Given the description of an element on the screen output the (x, y) to click on. 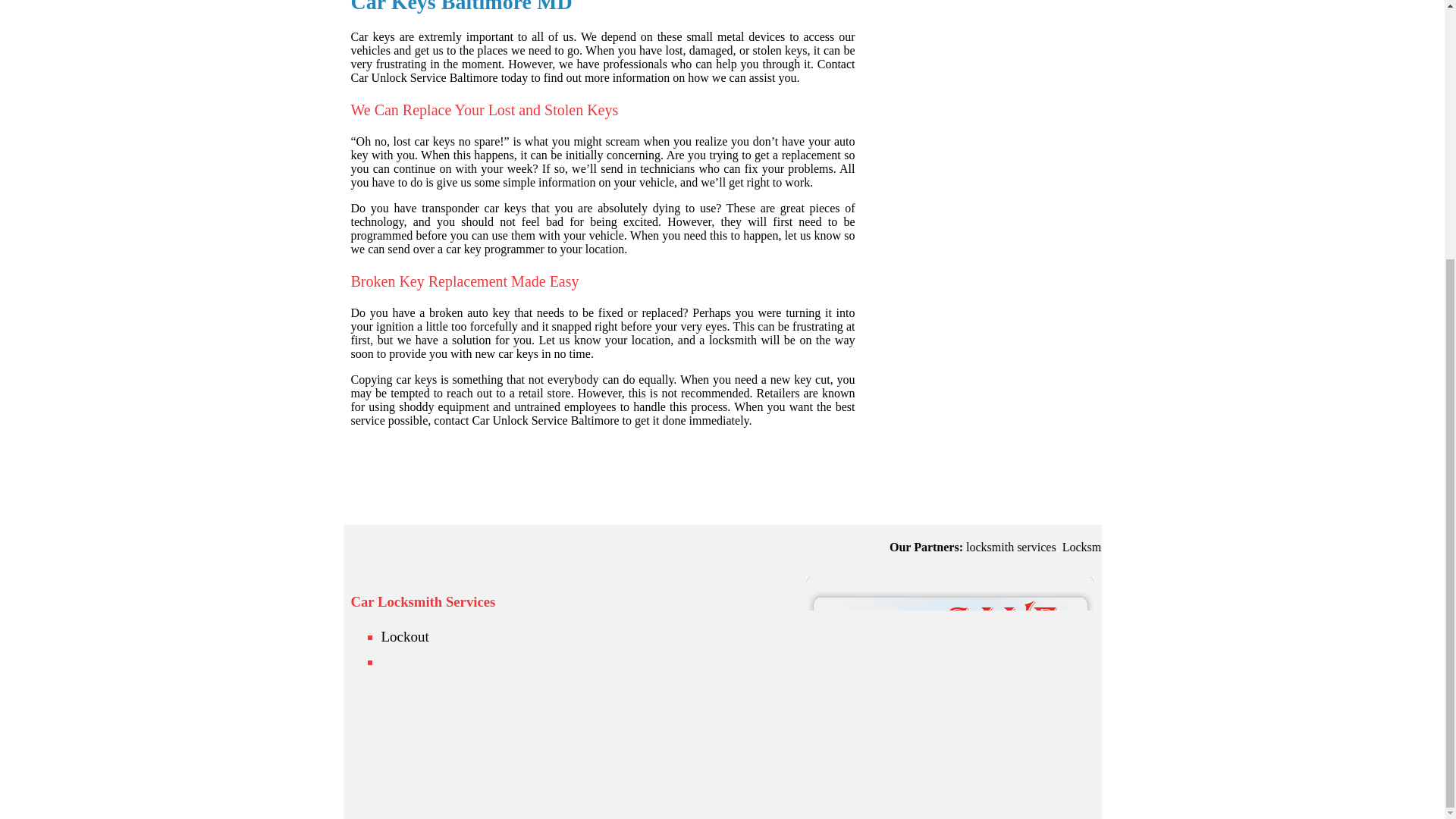
locksmith services (1217, 546)
Lockout (404, 636)
Locksmith Keys Replacement (1339, 546)
